Given the description of an element on the screen output the (x, y) to click on. 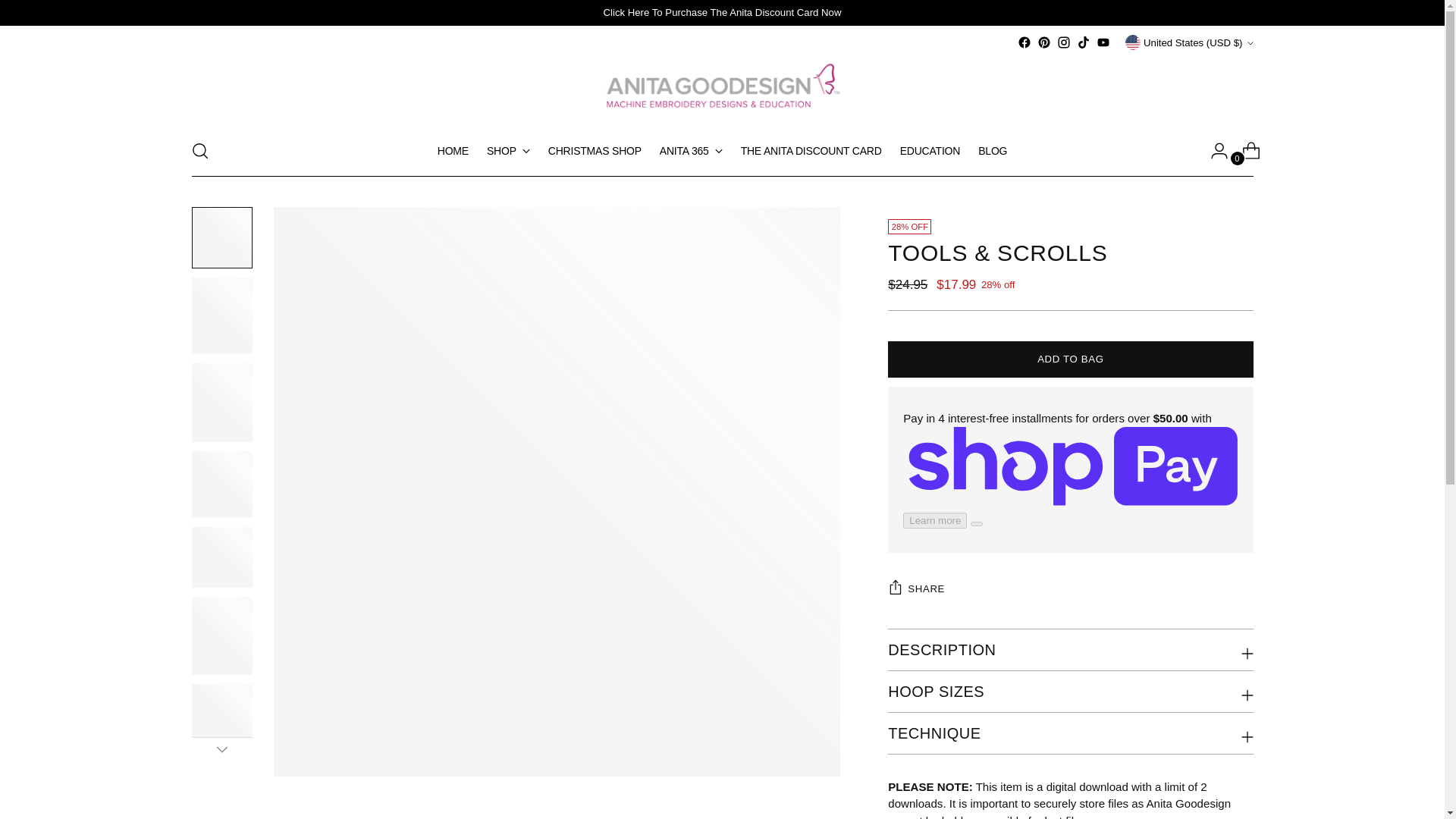
Anita Goodesign on Tiktok (1083, 42)
Down (220, 748)
Anita Goodesign on YouTube (1102, 42)
Anita Goodesign on Pinterest (1043, 42)
Anita Goodesign on Facebook (1023, 42)
Click Here To Purchase The Anita Discount Card Now (722, 12)
Anita Goodesign on Instagram (1063, 42)
